Given the description of an element on the screen output the (x, y) to click on. 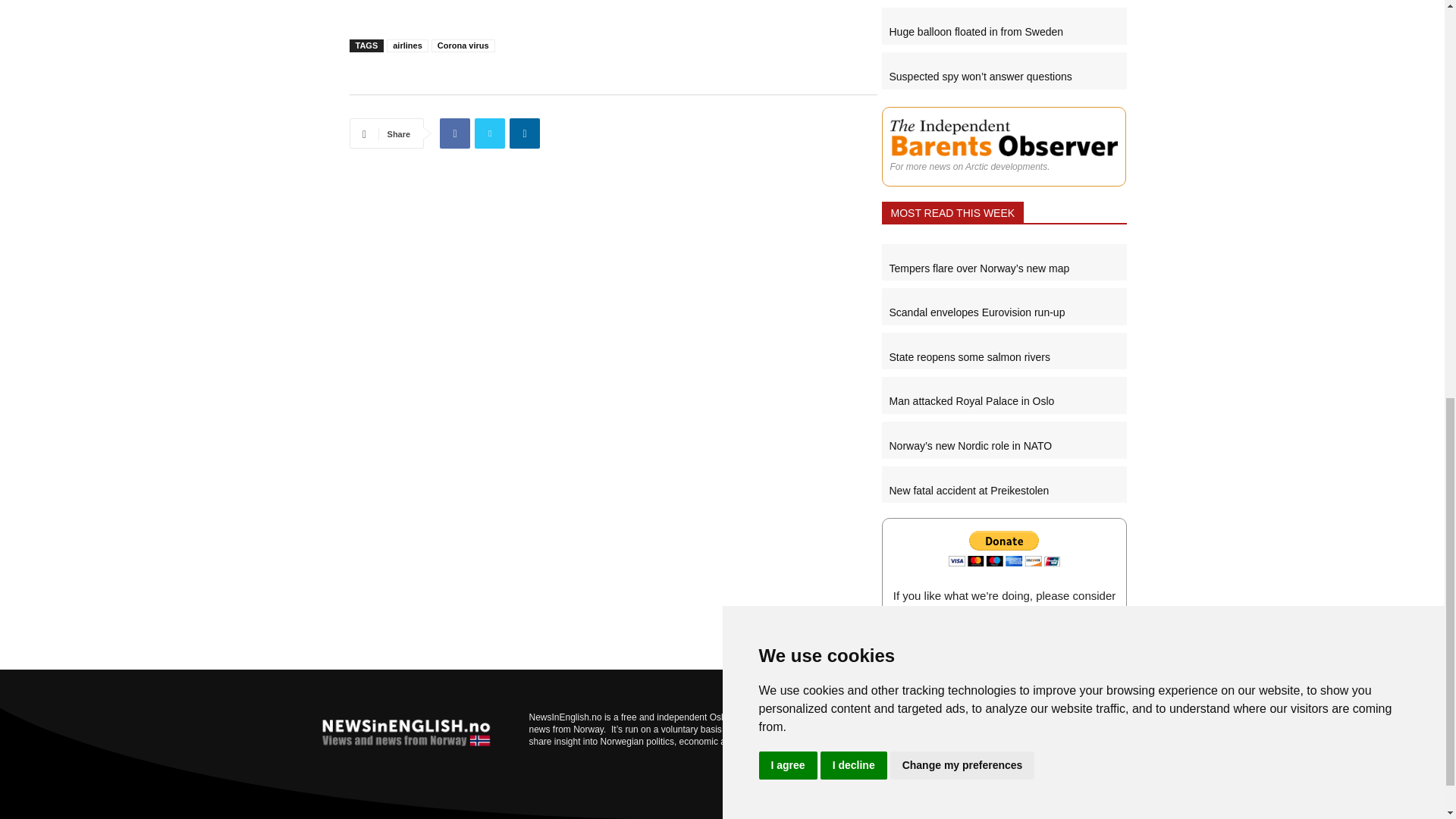
Linkedin (524, 132)
Facebook (454, 132)
Twitter (489, 132)
